Given the description of an element on the screen output the (x, y) to click on. 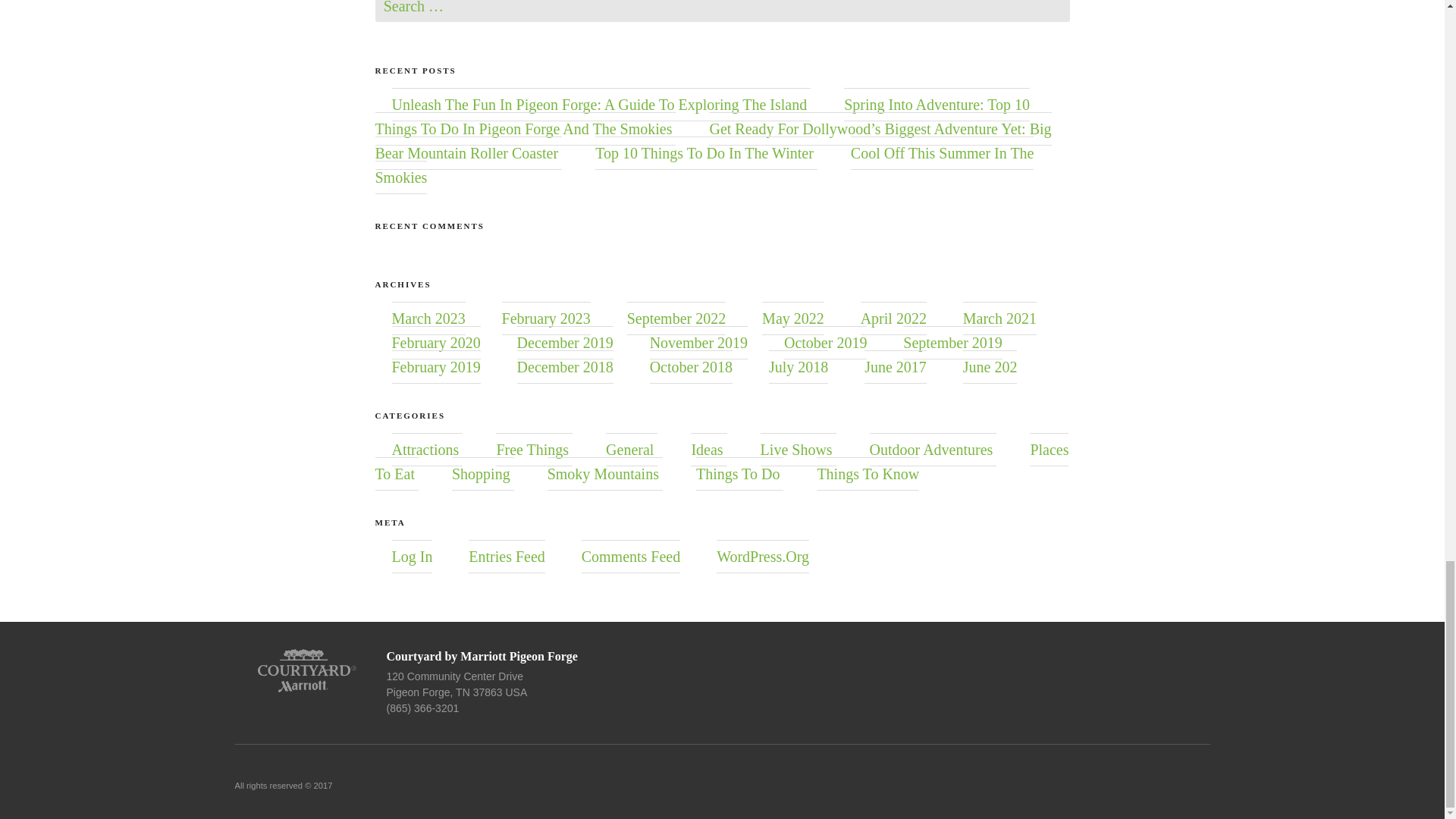
November 2019 (698, 342)
February 2019 (435, 366)
Places To Eat (721, 461)
Top 10 Things To Do In The Winter (704, 152)
Cool Off This Summer In The Smokies (703, 164)
Live Shows (796, 449)
June 2017 (895, 366)
December 2019 (564, 342)
June 202 (989, 366)
October 2018 (690, 366)
September 2022 (676, 318)
Attractions (424, 449)
Smoky Mountains (603, 474)
Outdoor Adventures (930, 449)
